Given the description of an element on the screen output the (x, y) to click on. 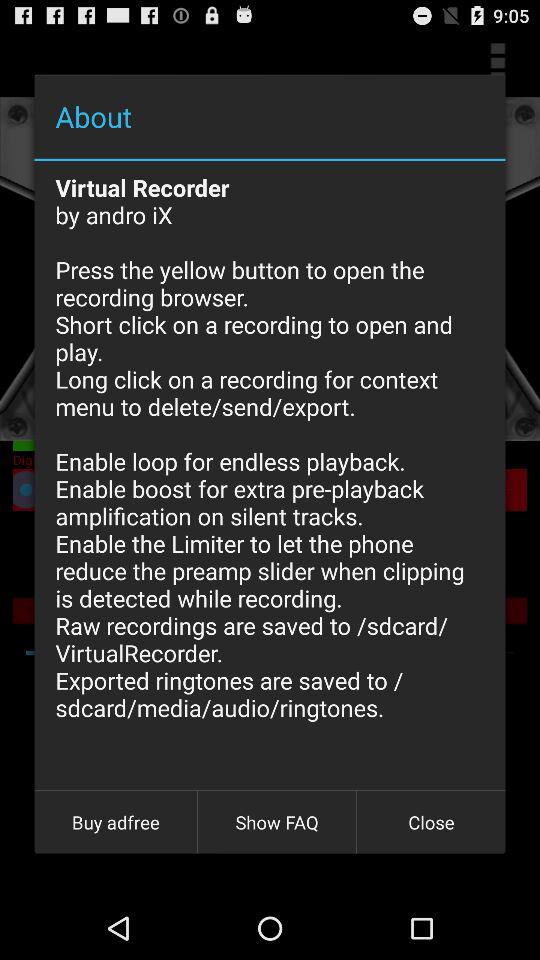
tap the icon next to close icon (277, 821)
